Given the description of an element on the screen output the (x, y) to click on. 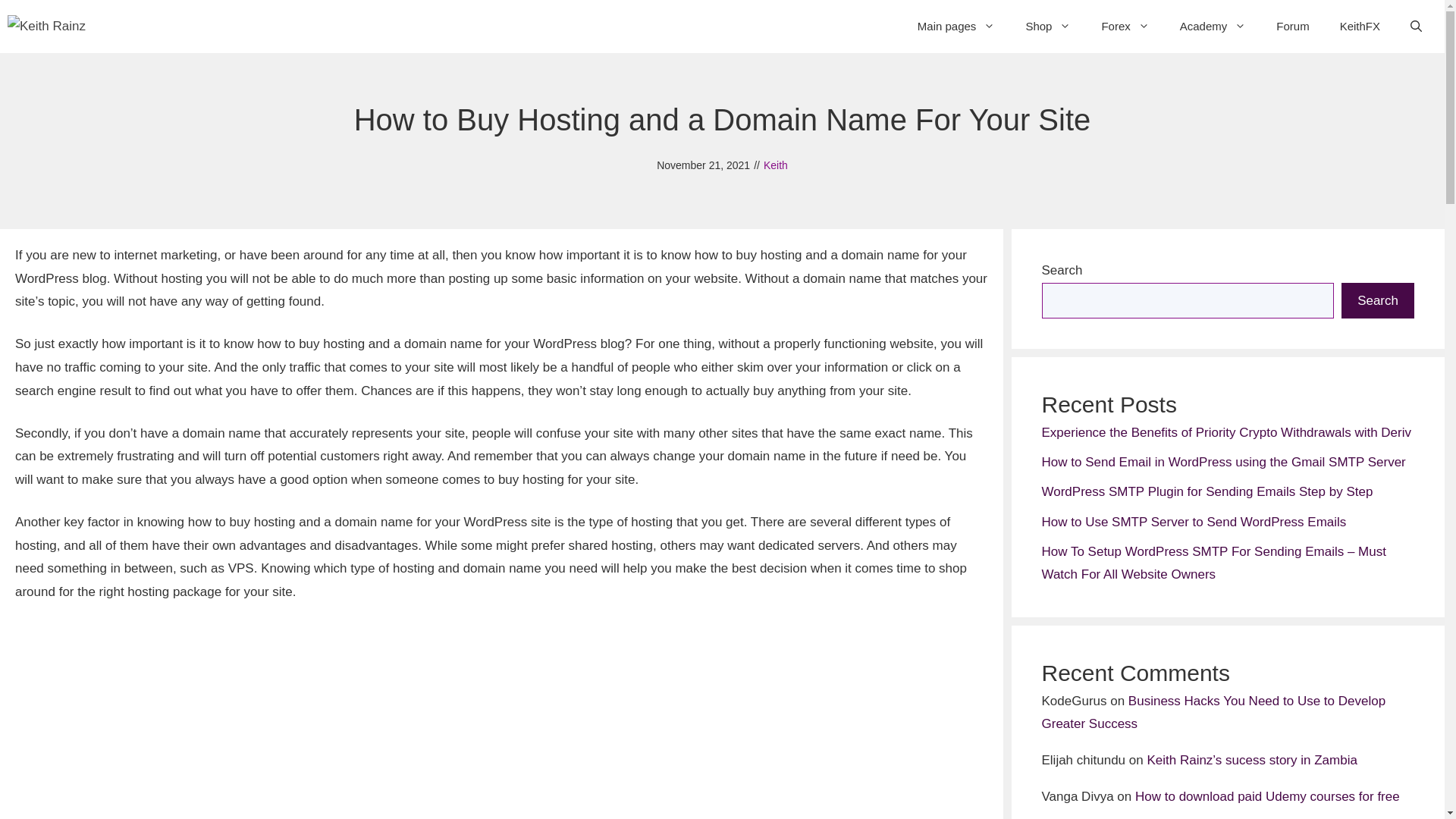
Academy (1213, 26)
Forum (1291, 26)
Main pages (956, 26)
Shop (1048, 26)
KeithFX (1359, 26)
Forex (1124, 26)
